Given the description of an element on the screen output the (x, y) to click on. 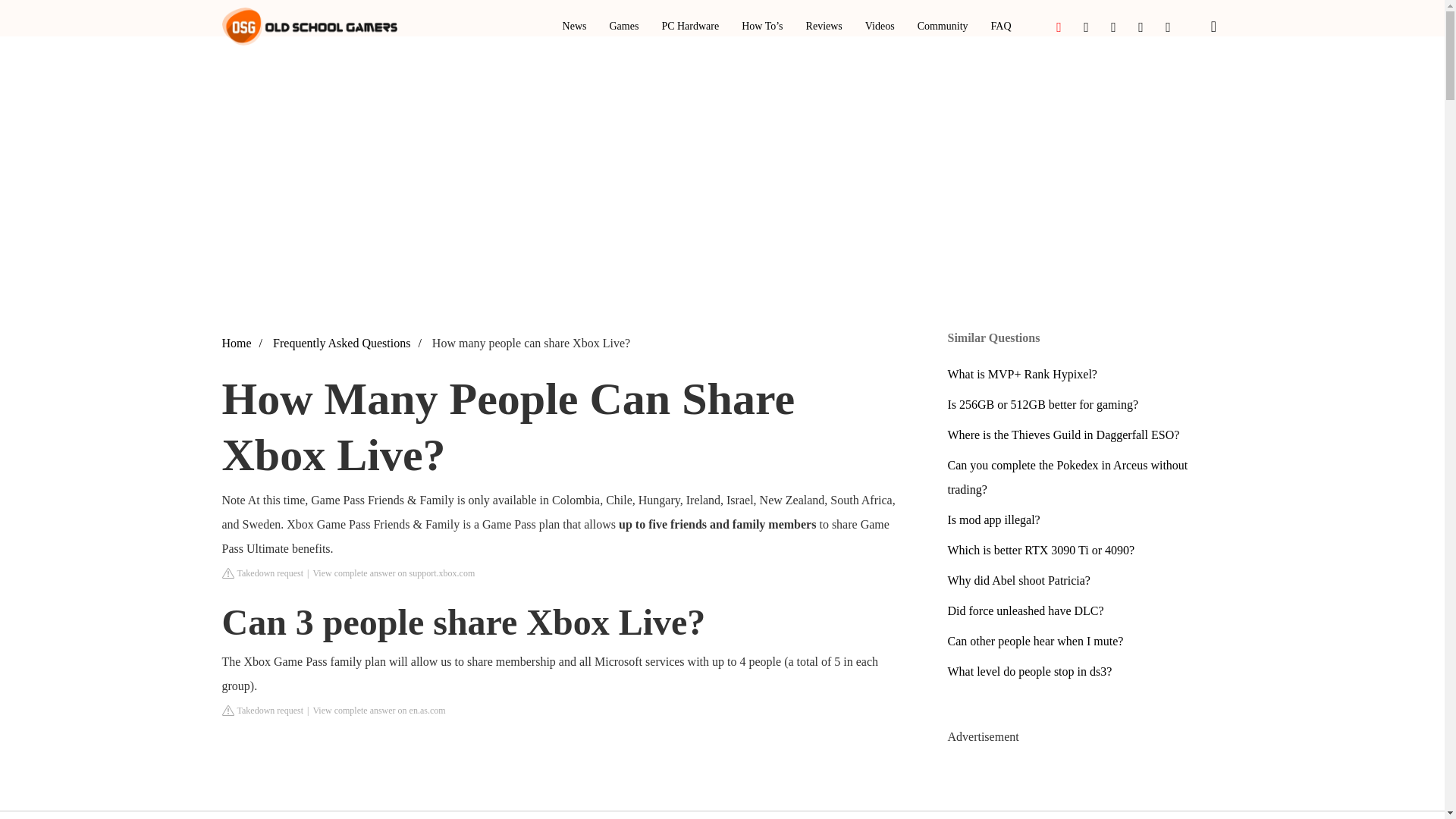
Games (623, 26)
PC Hardware (690, 26)
News (574, 26)
